Given the description of an element on the screen output the (x, y) to click on. 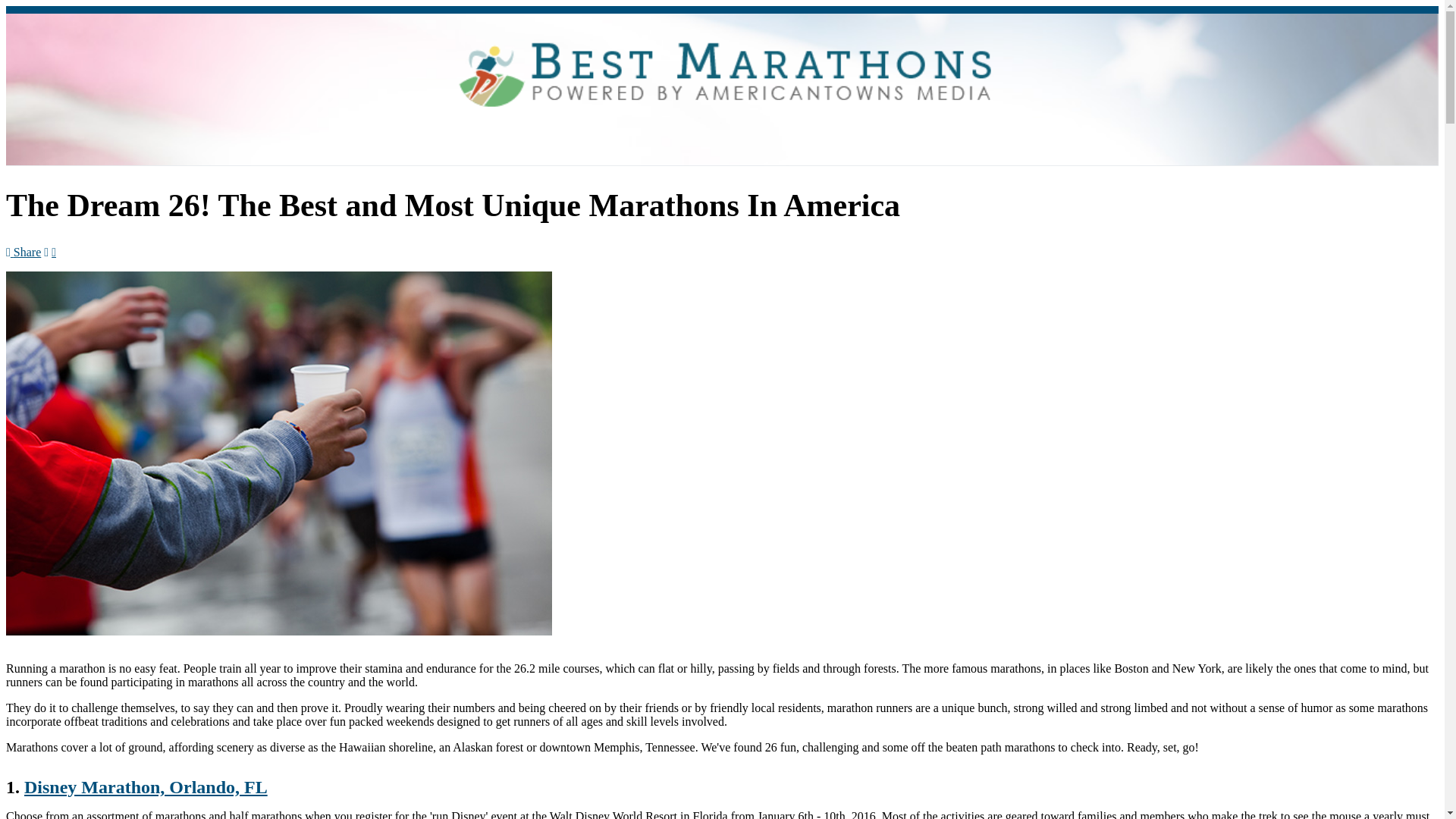
Share (22, 251)
Disney Marathon, Orlando, FL (145, 786)
